Given the description of an element on the screen output the (x, y) to click on. 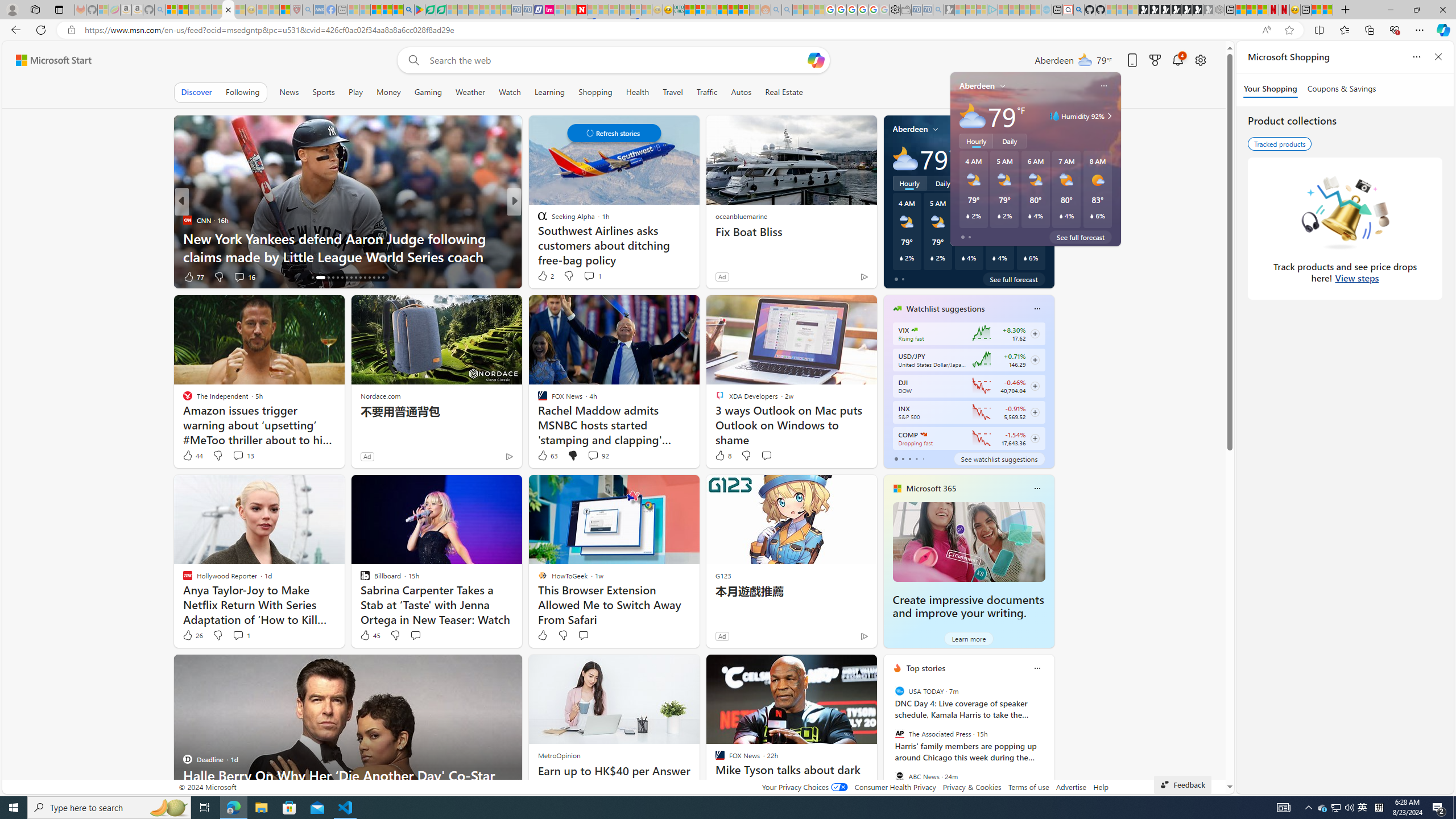
119 Like (545, 276)
Nordace.com (379, 395)
Class: weather-current-precipitation-glyph (1024, 257)
View comments 7 Comment (596, 276)
View comments 31 Comment (597, 276)
